Given the description of an element on the screen output the (x, y) to click on. 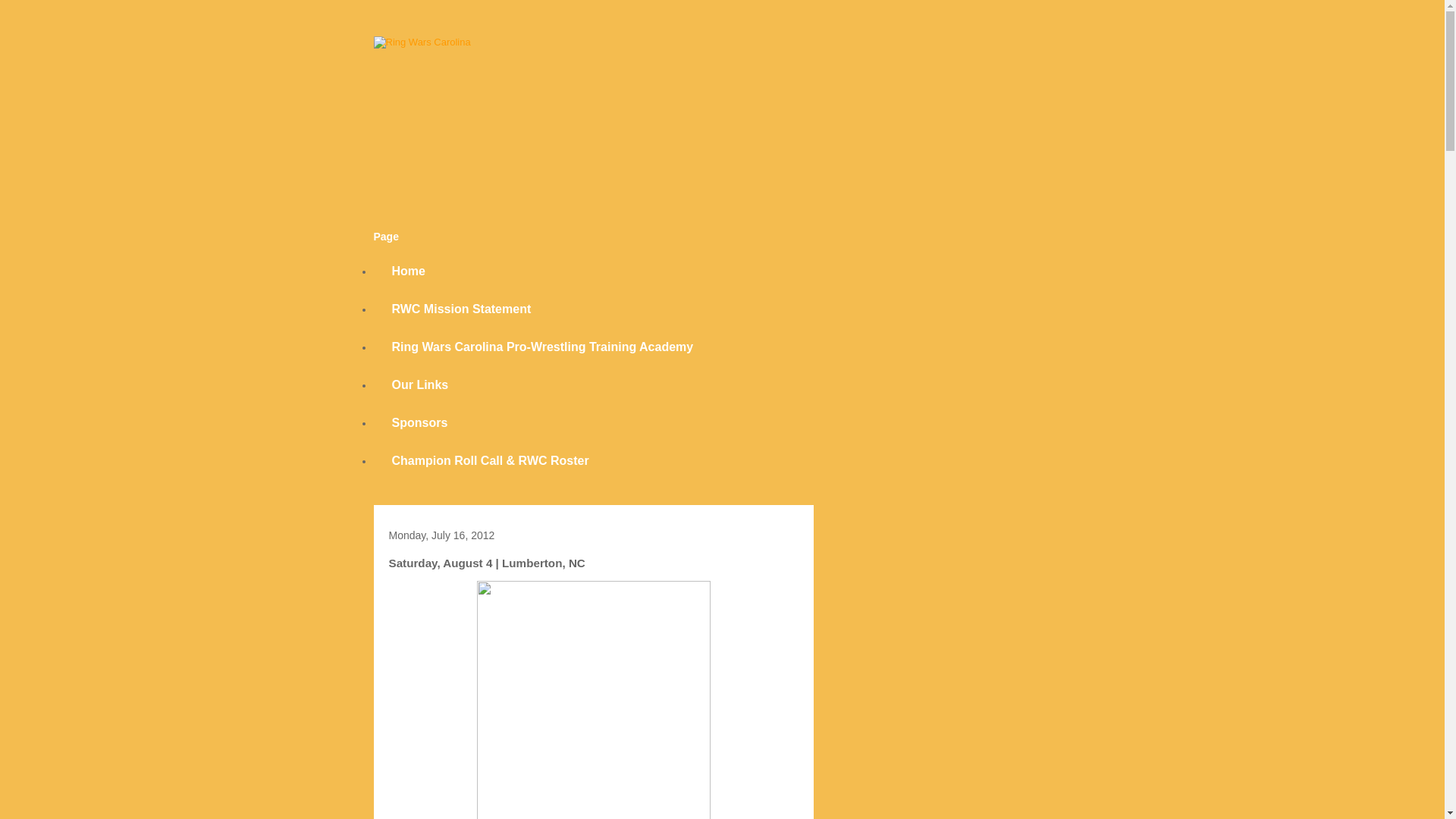
Home (407, 271)
Sponsors (418, 423)
Ring Wars Carolina Pro-Wrestling Training Academy (541, 347)
RWC Mission Statement (460, 309)
Our Links (418, 385)
